Given the description of an element on the screen output the (x, y) to click on. 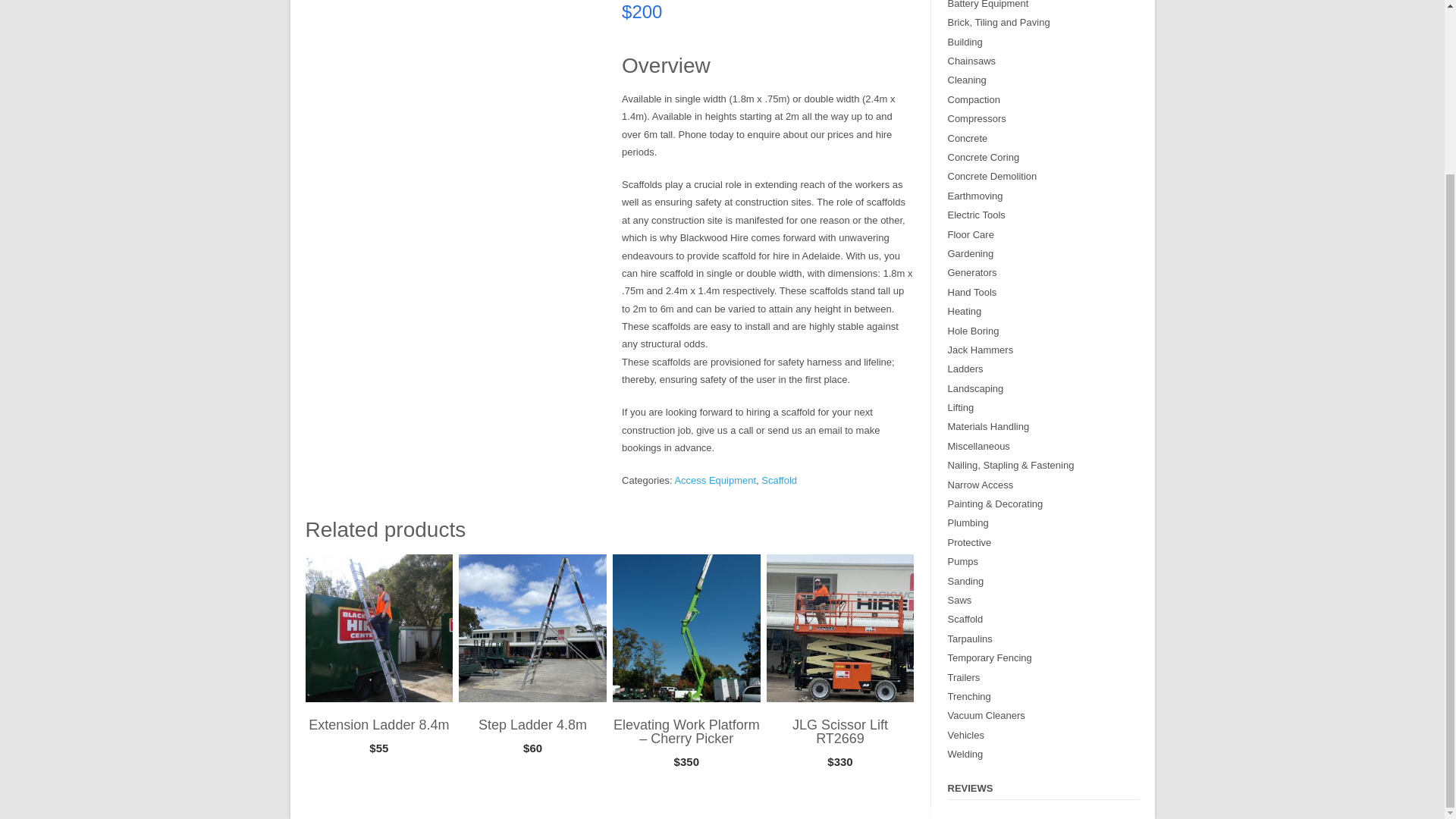
Generators (972, 272)
Chainsaws (971, 60)
Compaction (973, 99)
Scaffold (778, 480)
Cleaning (967, 79)
Electric Tools (976, 214)
Compressors (976, 118)
Gardening (970, 253)
Access Equipment (714, 480)
Building (964, 41)
